Given the description of an element on the screen output the (x, y) to click on. 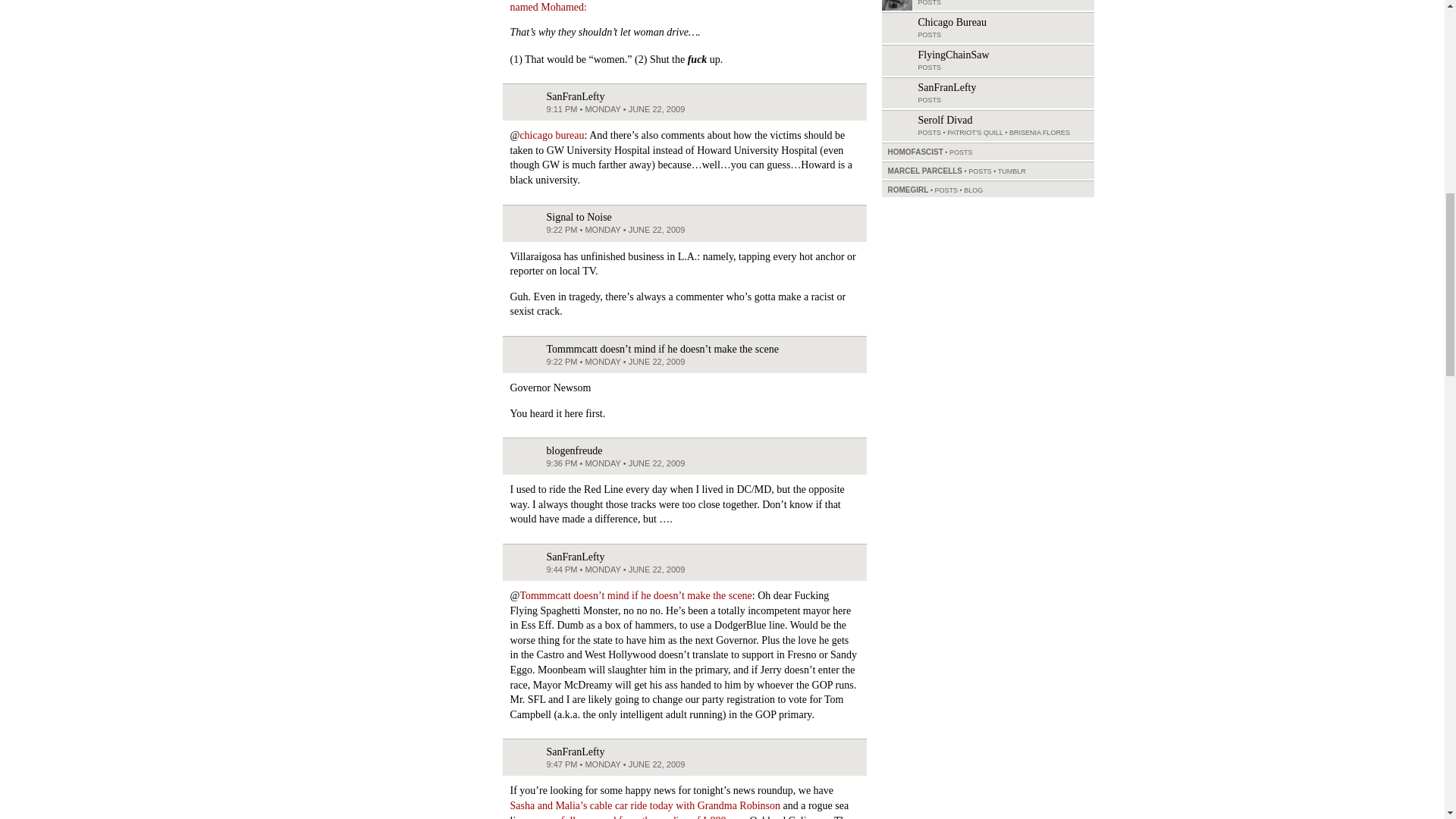
chicago bureau (551, 134)
successfully rescued from the median of I-880 (627, 816)
